Given the description of an element on the screen output the (x, y) to click on. 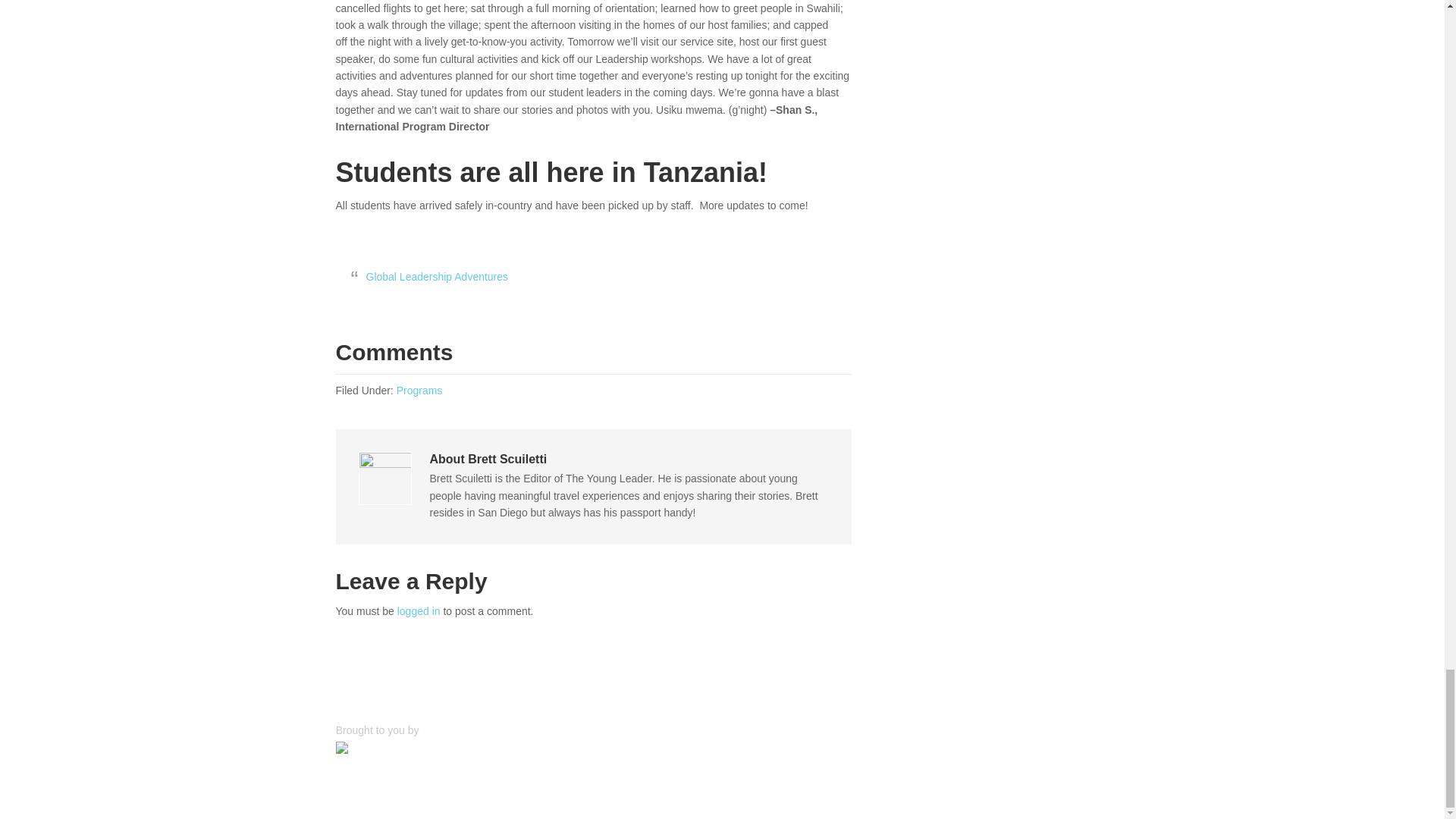
logged in (419, 611)
Programs (419, 390)
Global Leadership Adventures (436, 276)
